Given the description of an element on the screen output the (x, y) to click on. 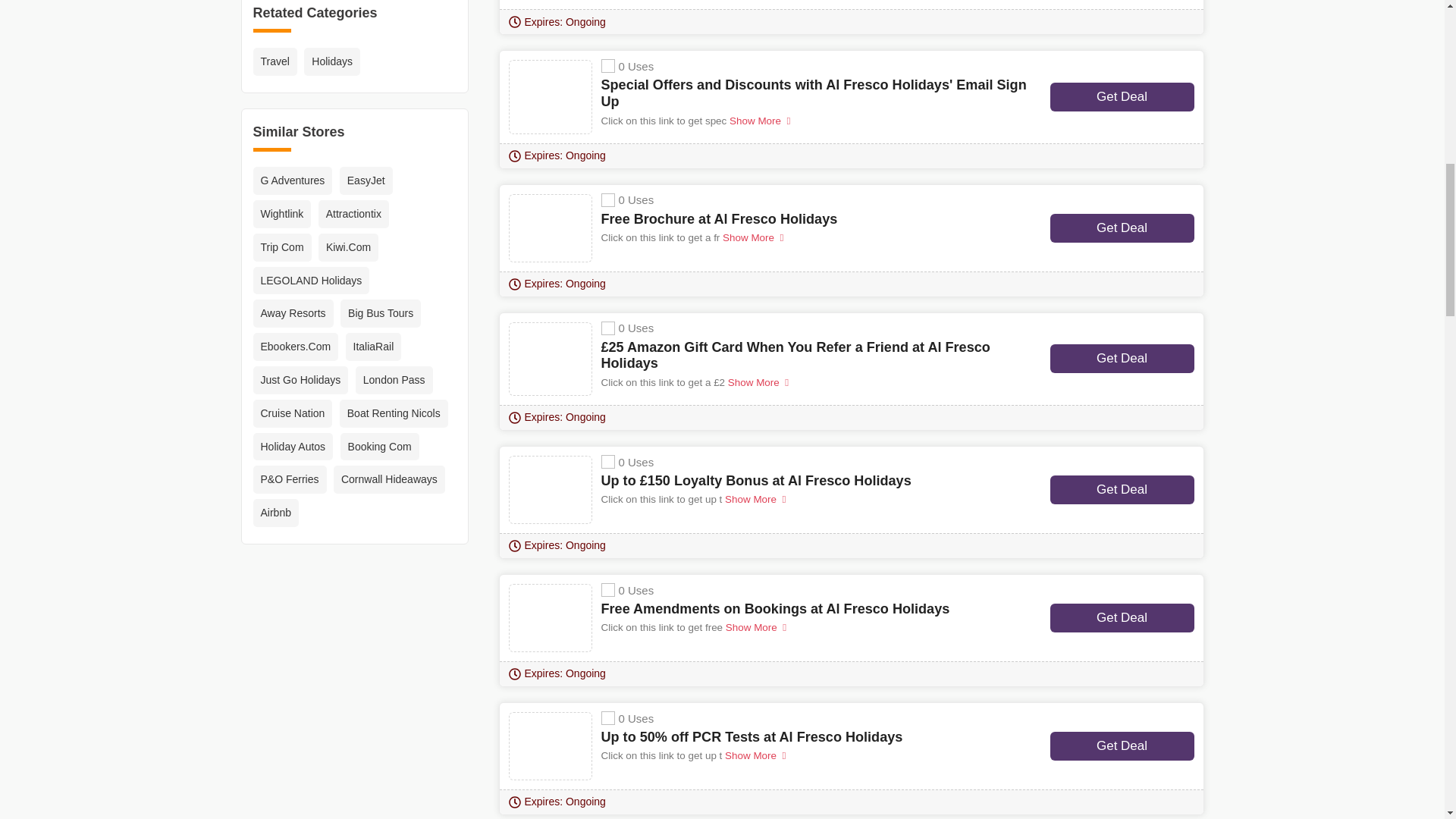
Trip Com (282, 247)
Big Bus Tours (380, 313)
London Pass (393, 379)
LEGOLAND Holidays (311, 280)
Travel (275, 61)
Airbnb (275, 512)
Kiwi.Com (348, 247)
Cruise Nation (293, 413)
Attractiontix (353, 213)
Ebookers.Com (296, 346)
